Given the description of an element on the screen output the (x, y) to click on. 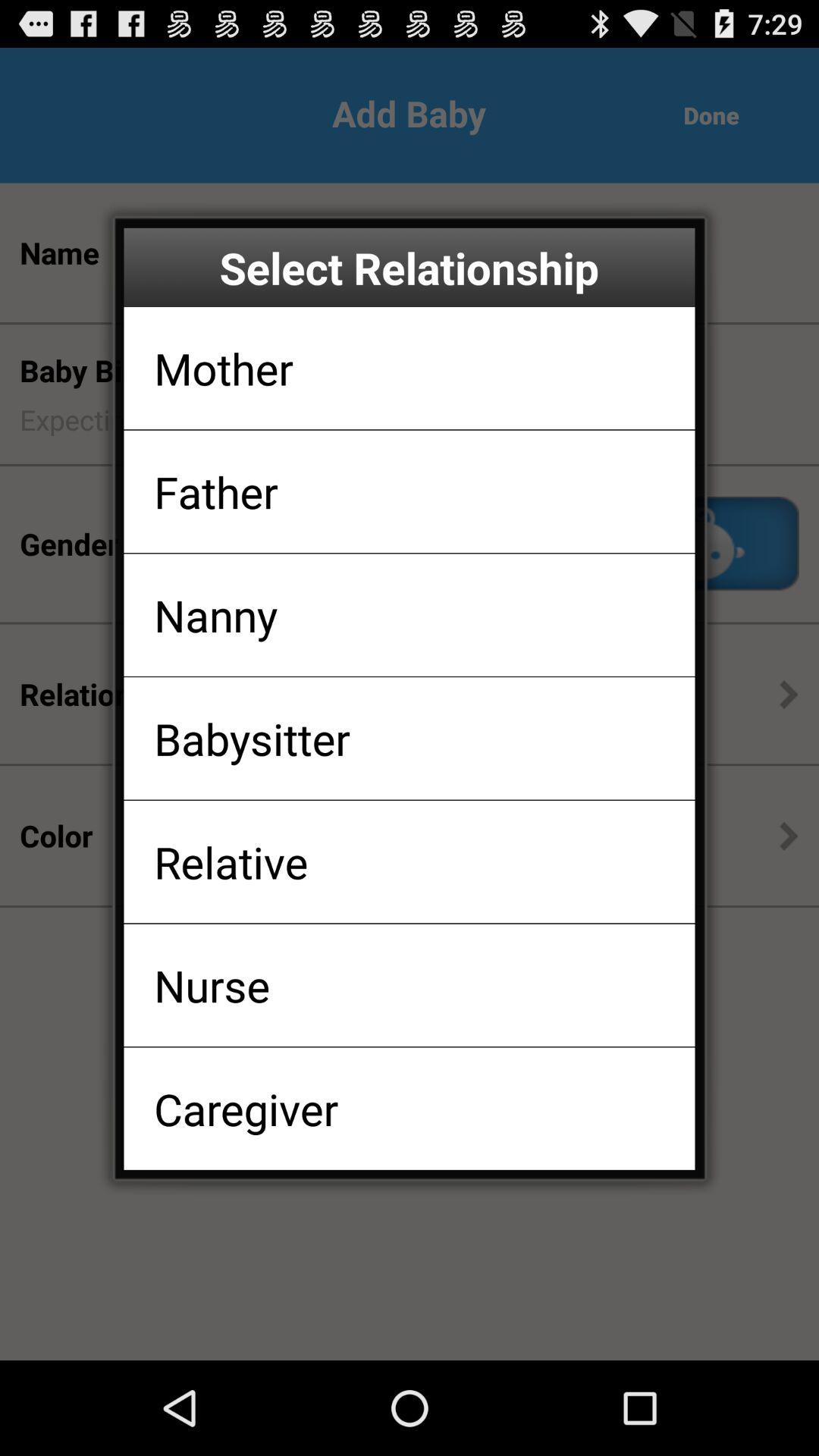
press icon above babysitter item (215, 614)
